Given the description of an element on the screen output the (x, y) to click on. 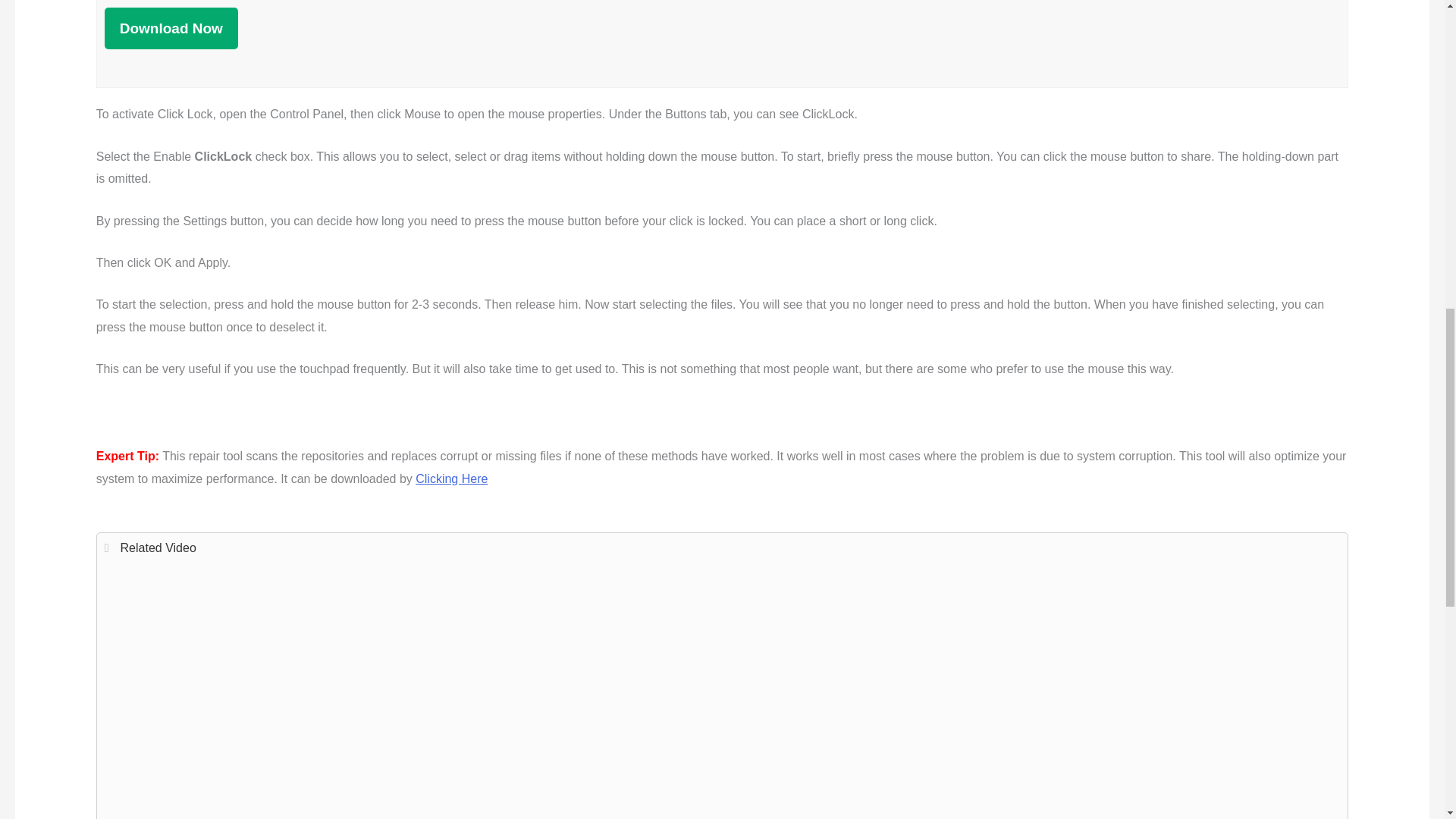
Clicking Here (450, 478)
Download Now (171, 28)
